Given the description of an element on the screen output the (x, y) to click on. 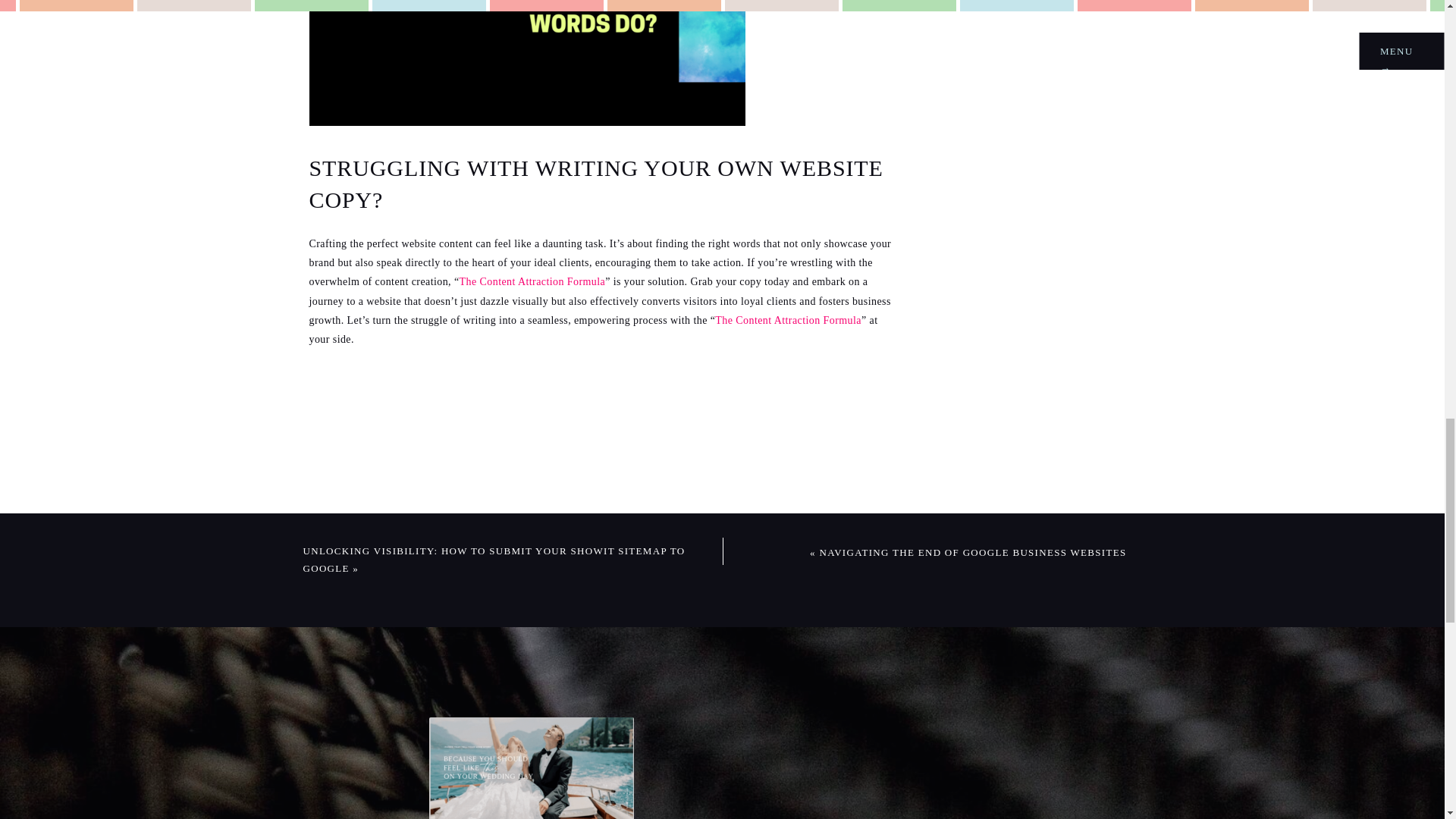
The Content Attraction Formula (532, 281)
NAVIGATING THE END OF GOOGLE BUSINESS WEBSITES (971, 552)
The Content Attraction Formula (787, 319)
